Given the description of an element on the screen output the (x, y) to click on. 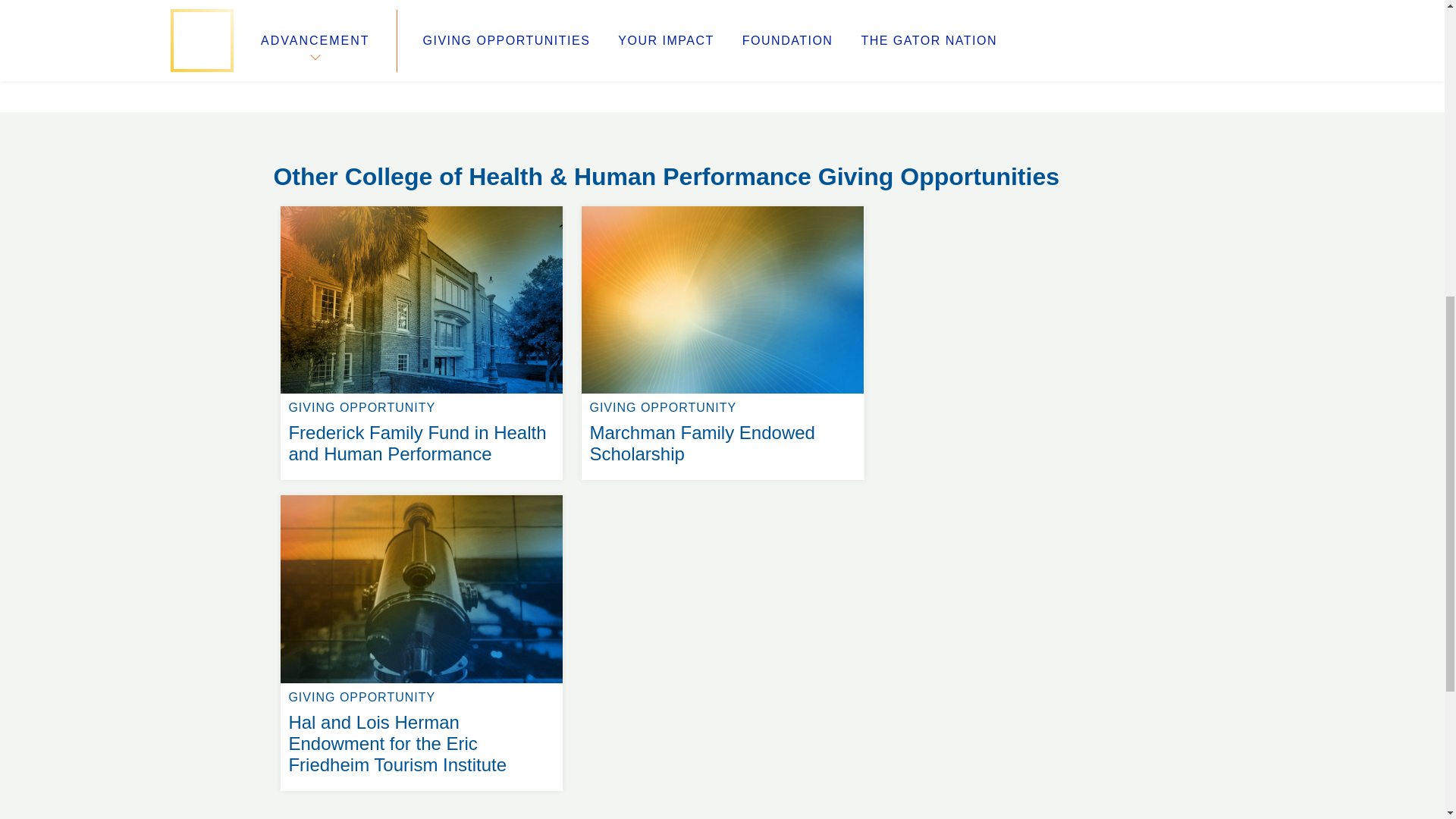
University of Florida (840, 76)
Advancement HUB (560, 76)
Complete My Gift (1173, 6)
Foundation Board (721, 206)
Privacy Policy (327, 112)
Contact Us (545, 112)
Staff Directory (306, 130)
Advancement Toolkit (316, 94)
Disclosures (565, 94)
Join Our Team (537, 130)
